Given the description of an element on the screen output the (x, y) to click on. 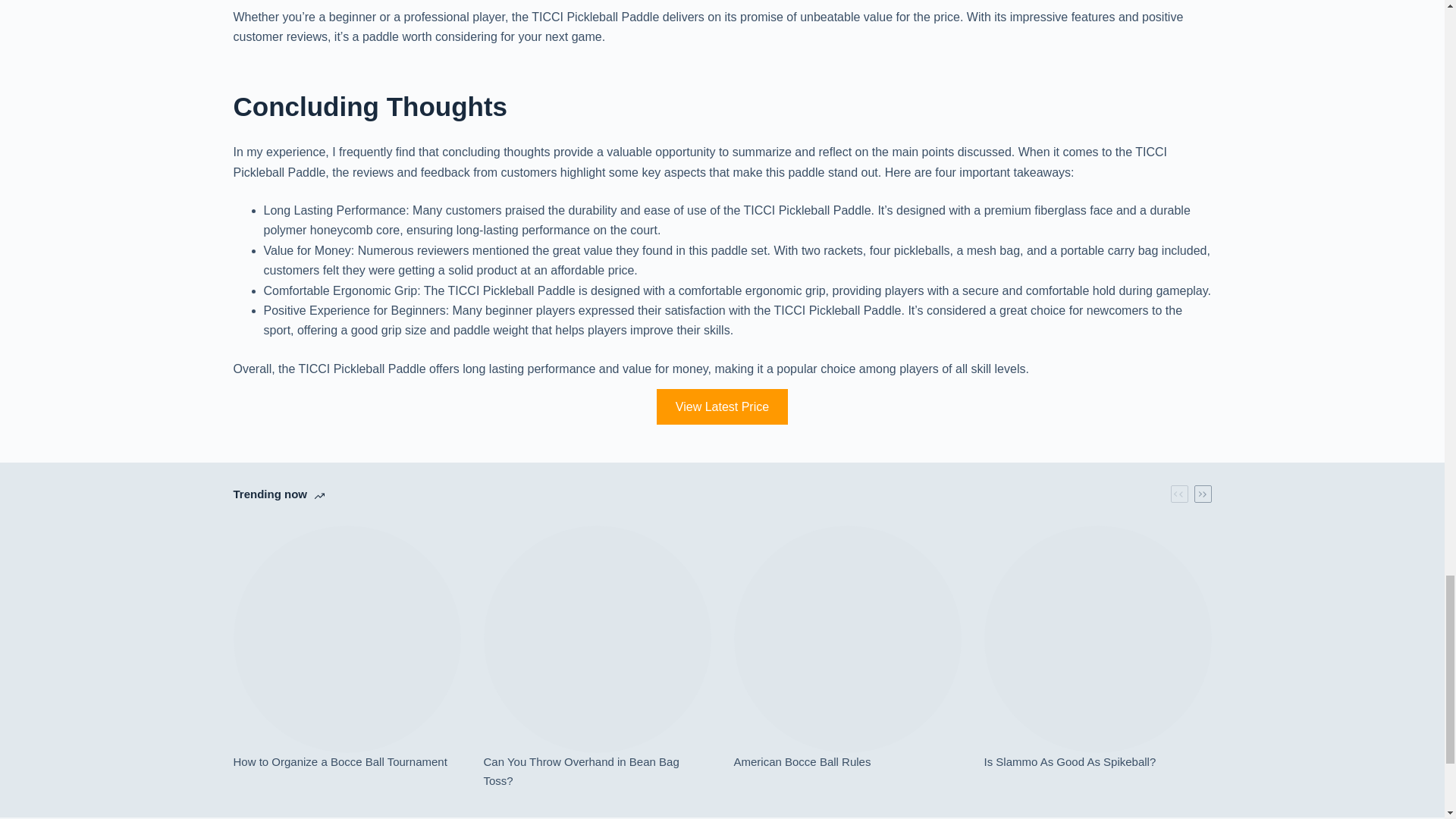
Is Slammo As Good As Spikeball? (1097, 762)
American Bocce Ball Rules (846, 762)
View Latest Price (721, 407)
How to Organize a Bocce Ball Tournament (346, 762)
Can You Throw Overhand in Bean Bag Toss? (597, 771)
